Given the description of an element on the screen output the (x, y) to click on. 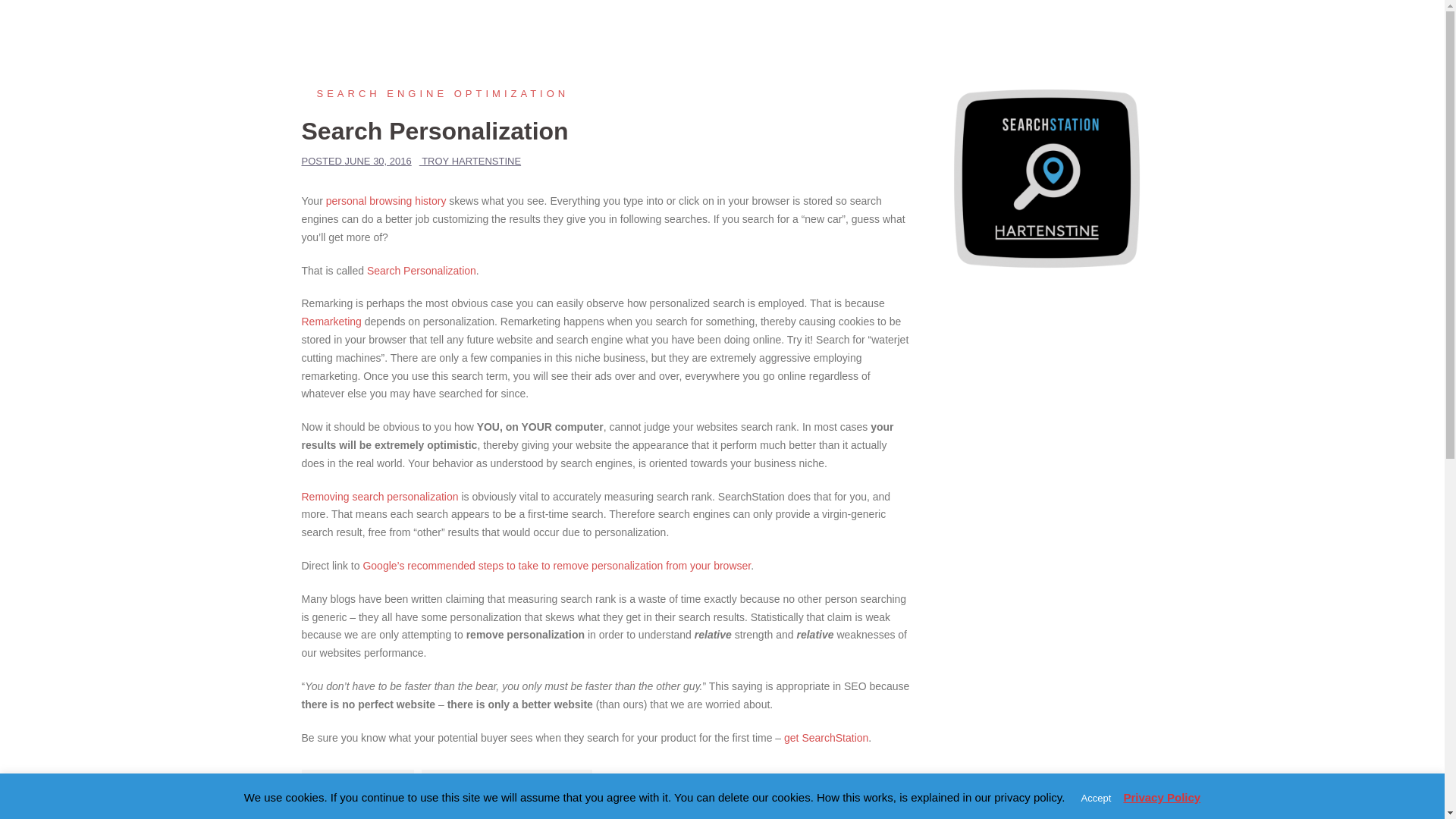
REMARKETING (357, 782)
Remarketing (331, 321)
Features (956, 29)
get SearchStation (825, 737)
SEARCH ENGINE OPTIMIZATION (435, 93)
Contact (1124, 29)
Accept (1096, 797)
JUNE 30, 2016 (378, 161)
Search Personalization (421, 270)
Removing search personalization (379, 496)
